Given the description of an element on the screen output the (x, y) to click on. 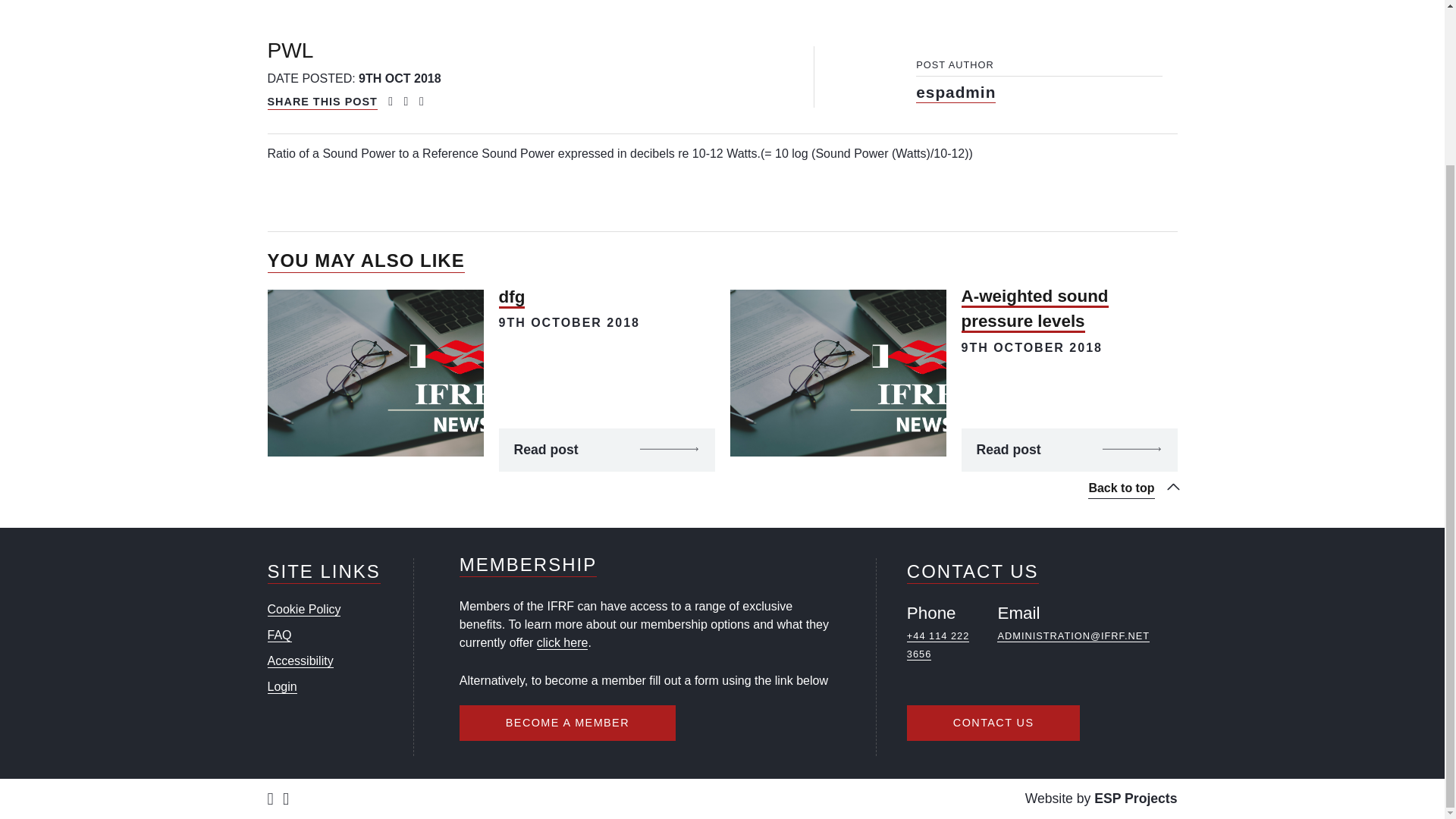
Research and Publications (424, 1)
Glossary (579, 1)
Home (284, 1)
